Given the description of an element on the screen output the (x, y) to click on. 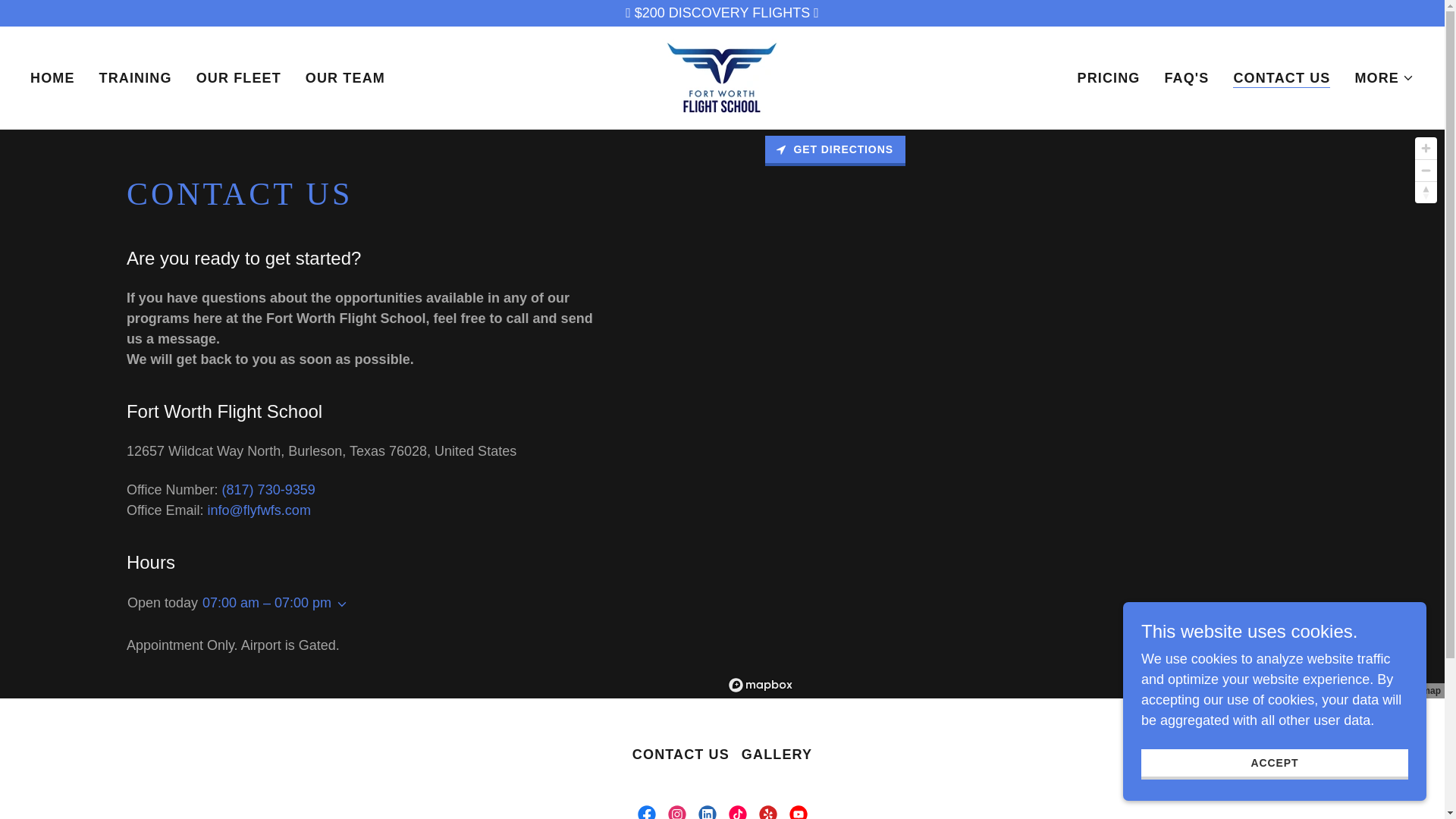
OUR FLEET (238, 76)
Fort Worth Flight School (721, 76)
CONTACT US (1281, 76)
Zoom in (1426, 147)
Zoom out (1426, 169)
Improve this map (1403, 690)
OpenStreetMap (1324, 690)
Mapbox (1264, 690)
PRICING (1108, 76)
HOME (53, 76)
OUR TEAM (345, 76)
TRAINING (135, 76)
Reset bearing to north (1426, 192)
FAQ'S (1185, 76)
MORE (1383, 76)
